Given the description of an element on the screen output the (x, y) to click on. 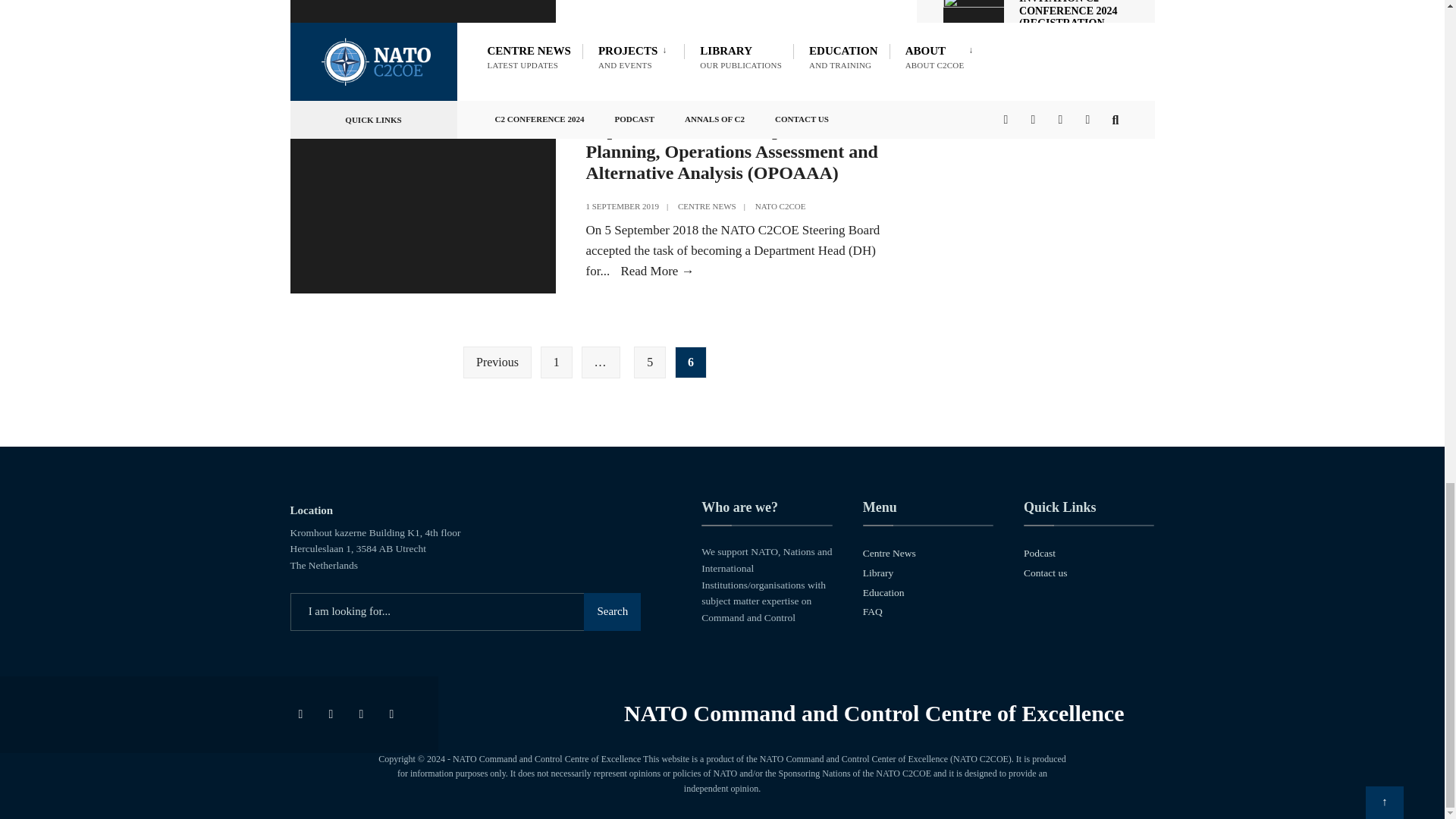
Posts by NATO C2COE (780, 205)
LinkedIn (393, 714)
I am looking for... (464, 611)
